Given the description of an element on the screen output the (x, y) to click on. 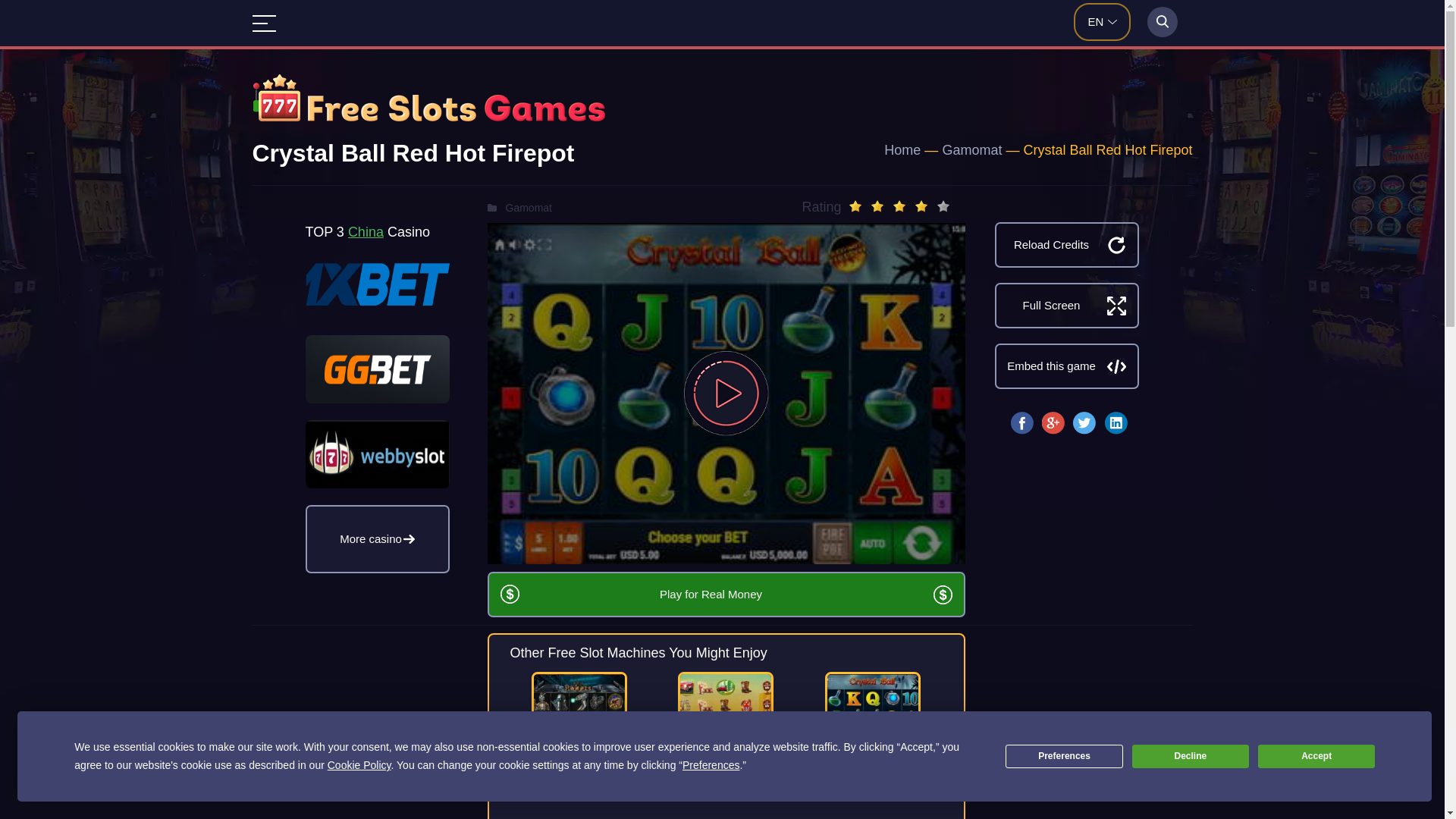
Robots (579, 717)
google shared (1053, 422)
Decline (1190, 756)
5 (943, 205)
facebook shared (1021, 422)
4 (921, 205)
3 (899, 205)
Accept (1315, 756)
Show navigation (263, 23)
Show navigation (263, 23)
twitter shared (1084, 422)
Preferences (1064, 756)
linkedin shared (1114, 422)
1 (854, 205)
2 (876, 205)
